Given the description of an element on the screen output the (x, y) to click on. 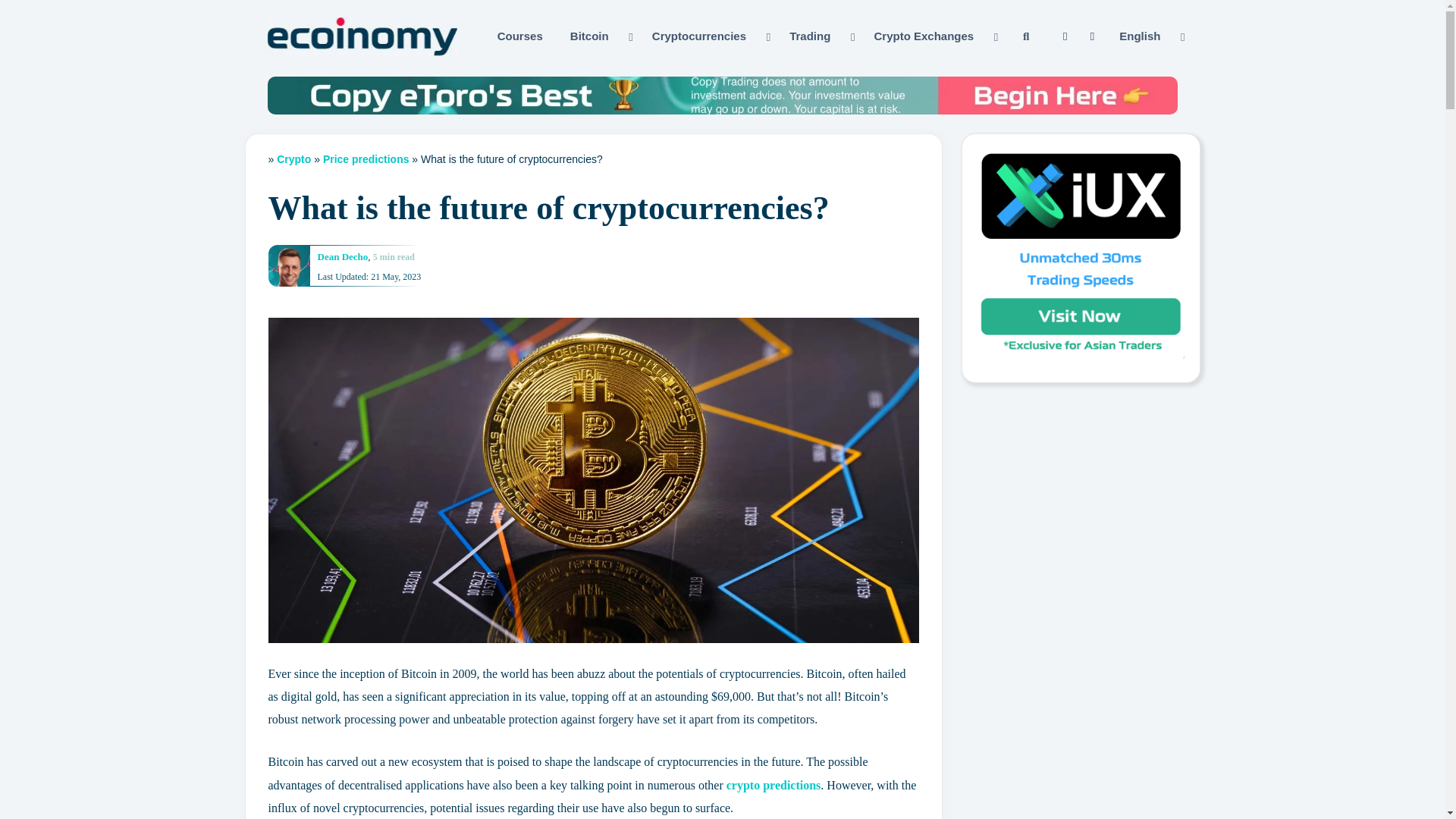
search (1025, 36)
Cryptocurrencies (708, 36)
Courses (520, 36)
Crypto Exchanges (933, 36)
Trading (819, 36)
Like our Facebook page (1065, 36)
Bitcoin (599, 36)
